Given the description of an element on the screen output the (x, y) to click on. 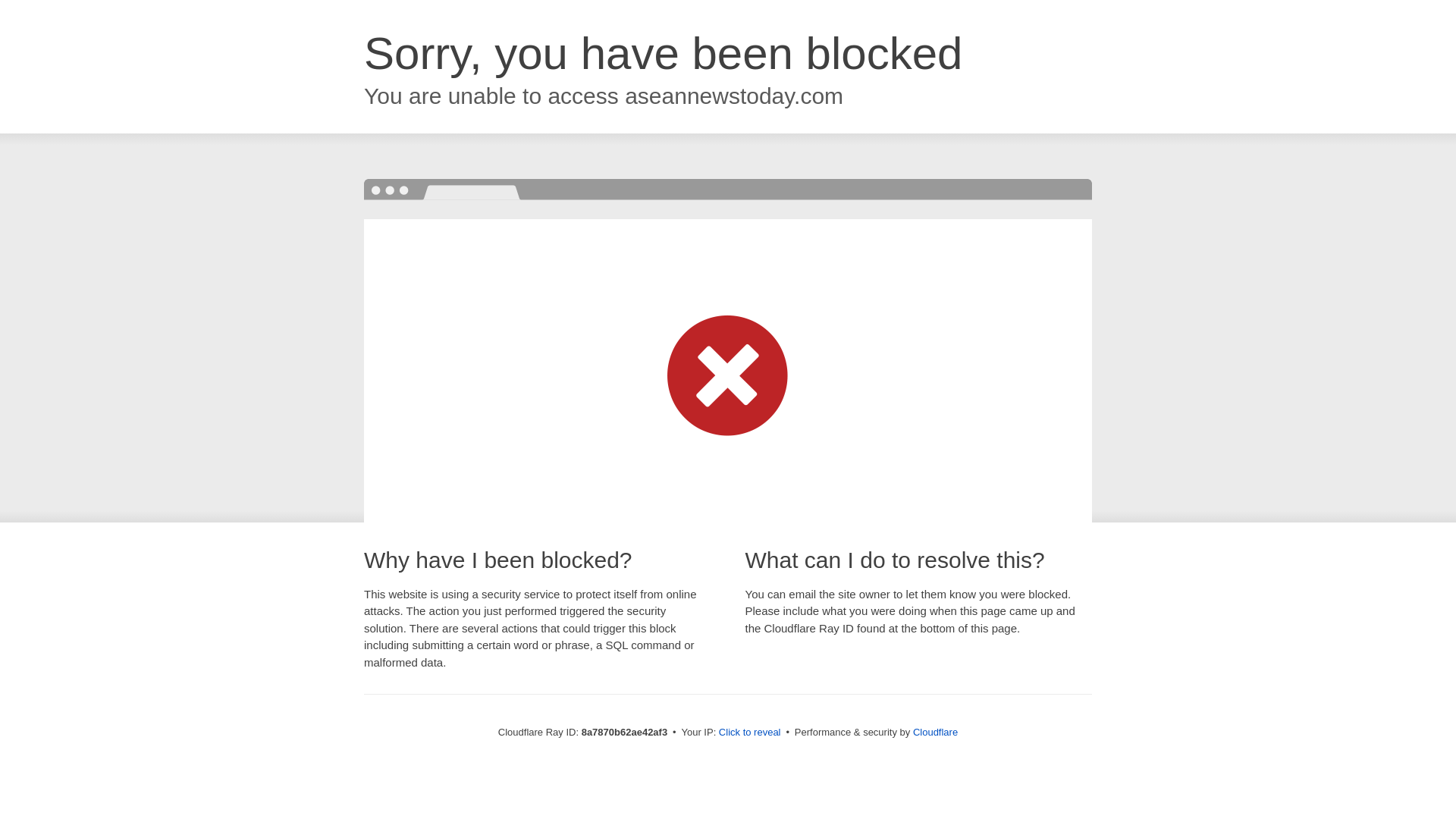
Click to reveal (749, 732)
Cloudflare (935, 731)
